Given the description of an element on the screen output the (x, y) to click on. 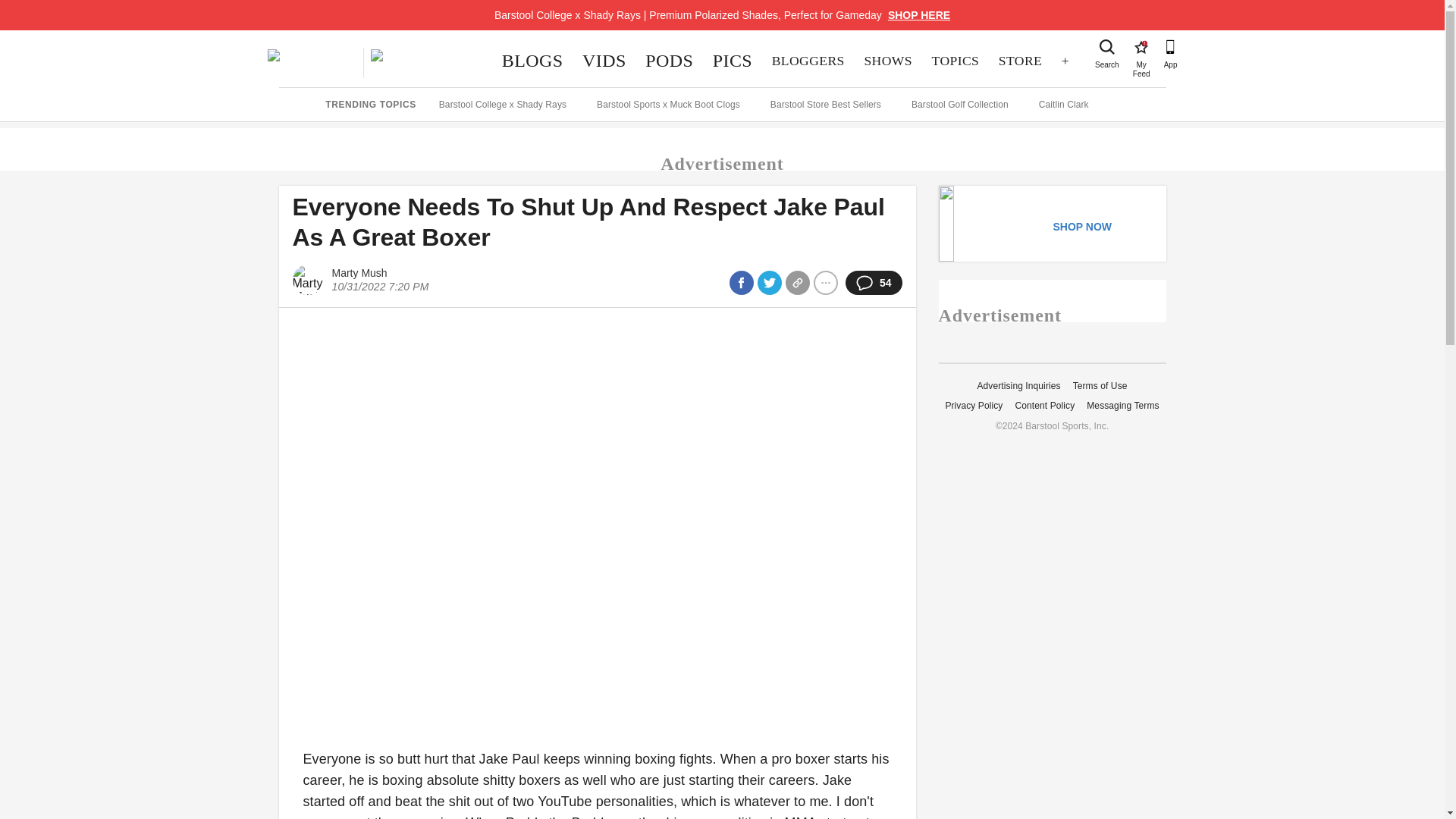
Search (1107, 46)
STORE (1019, 60)
SHOWS (887, 60)
BLOGS (532, 60)
PICS (732, 60)
VIDS (603, 60)
PODS (668, 60)
SHOP HERE (919, 15)
TOPICS (954, 60)
